Given the description of an element on the screen output the (x, y) to click on. 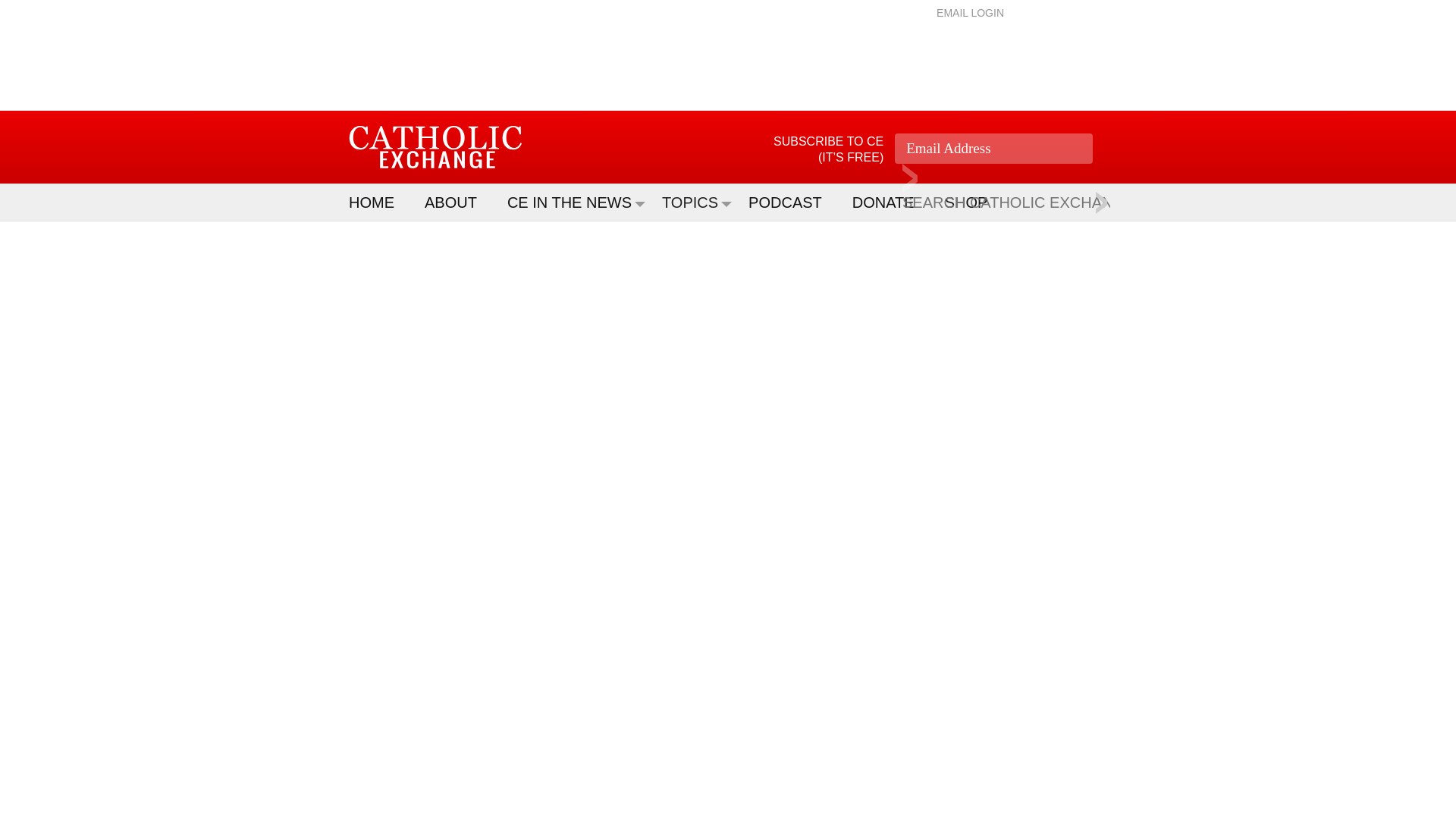
PODCAST (792, 201)
CE IN THE NEWS (576, 201)
Catholic Exchange (435, 146)
EMAIL LOGIN (970, 12)
SHOP (973, 201)
HOME (379, 201)
DONATE (890, 201)
ABOUT (458, 201)
